Given the description of an element on the screen output the (x, y) to click on. 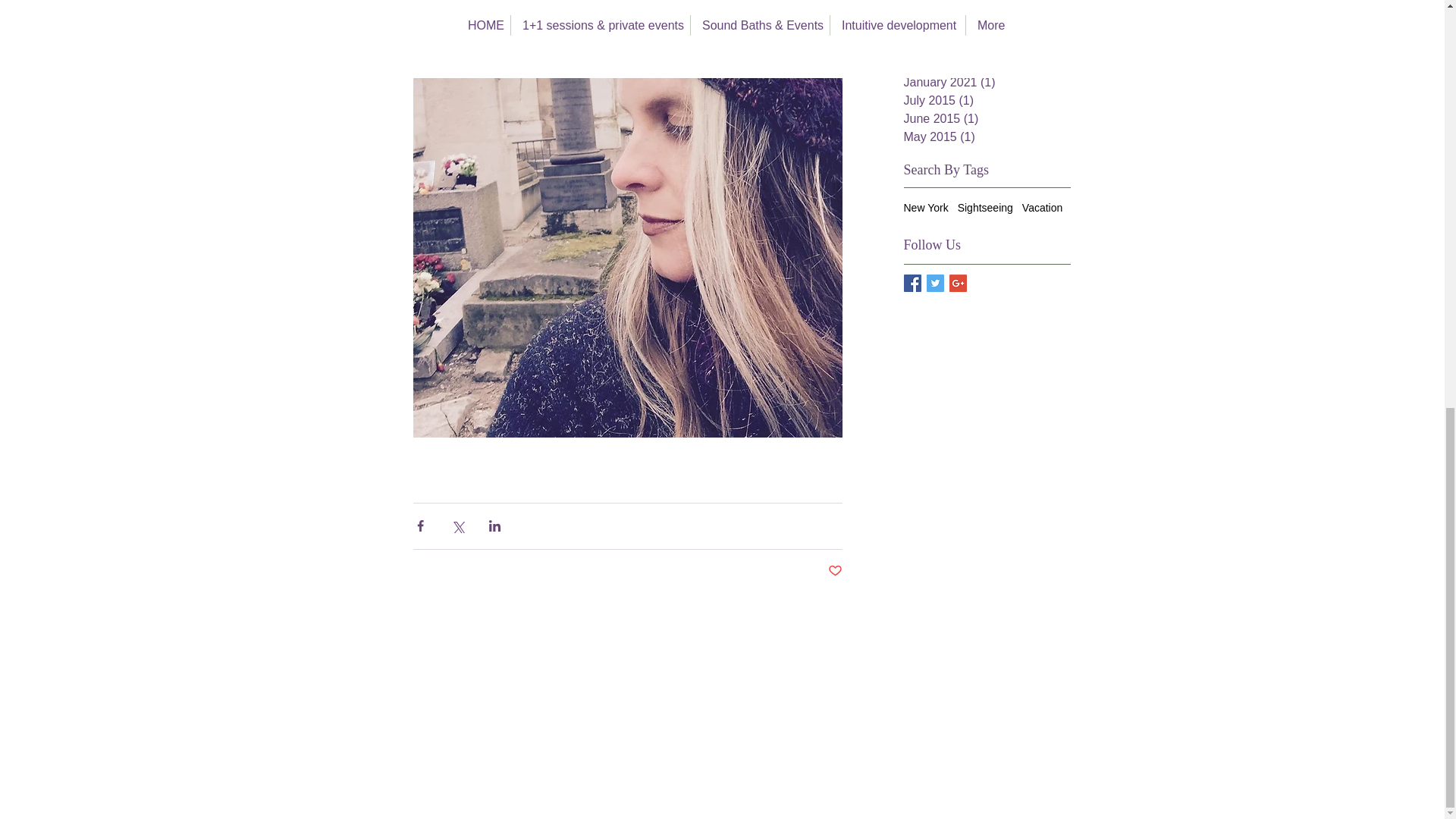
Post not marked as liked (835, 570)
